Given the description of an element on the screen output the (x, y) to click on. 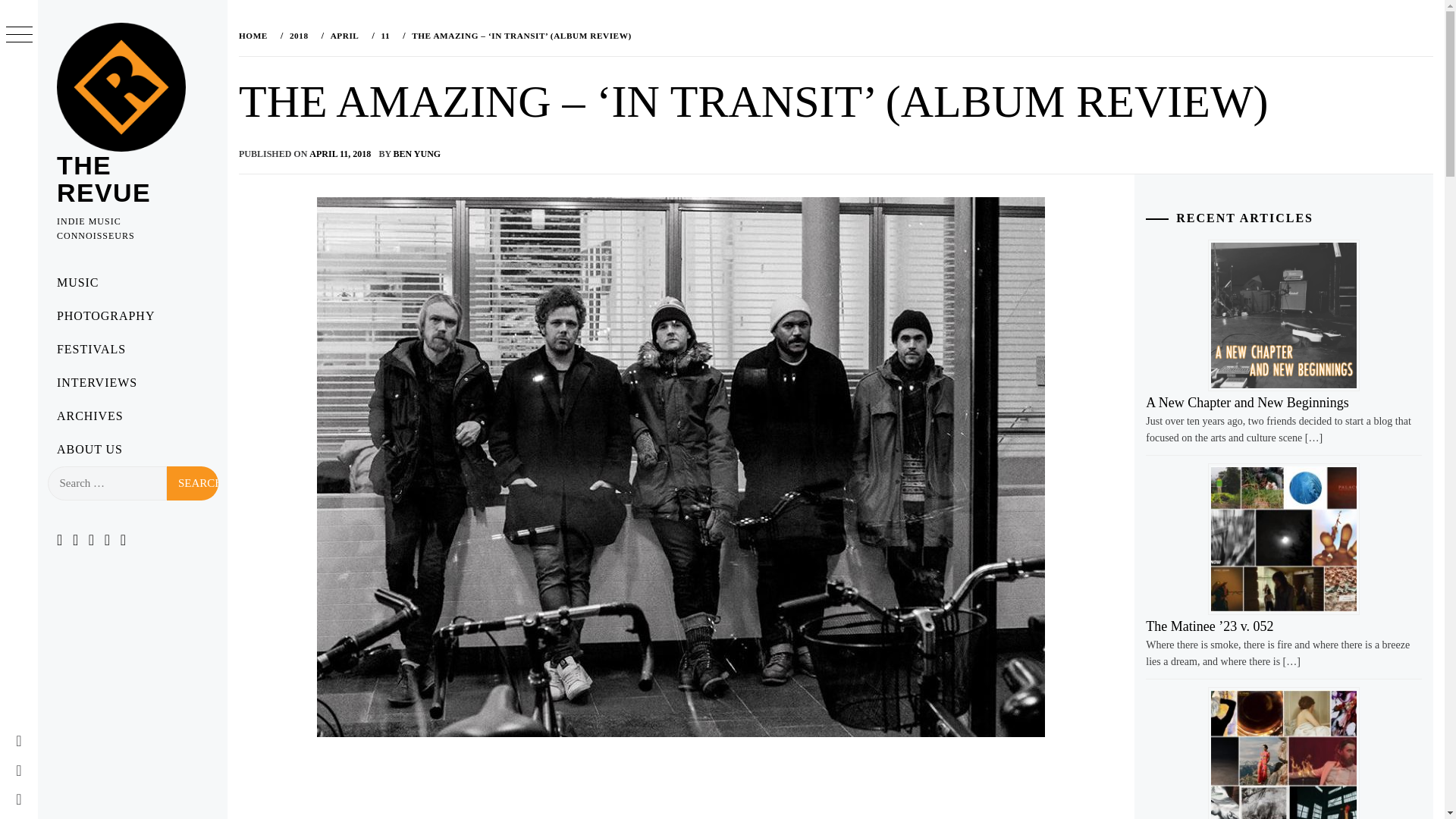
ABOUT US (132, 449)
ARCHIVES (132, 416)
FESTIVALS (132, 349)
PHOTOGRAPHY (132, 315)
Search (192, 483)
Search (192, 483)
MUSIC (132, 282)
THE REVUE (103, 178)
INTERVIEWS (132, 382)
Search (192, 483)
